Given the description of an element on the screen output the (x, y) to click on. 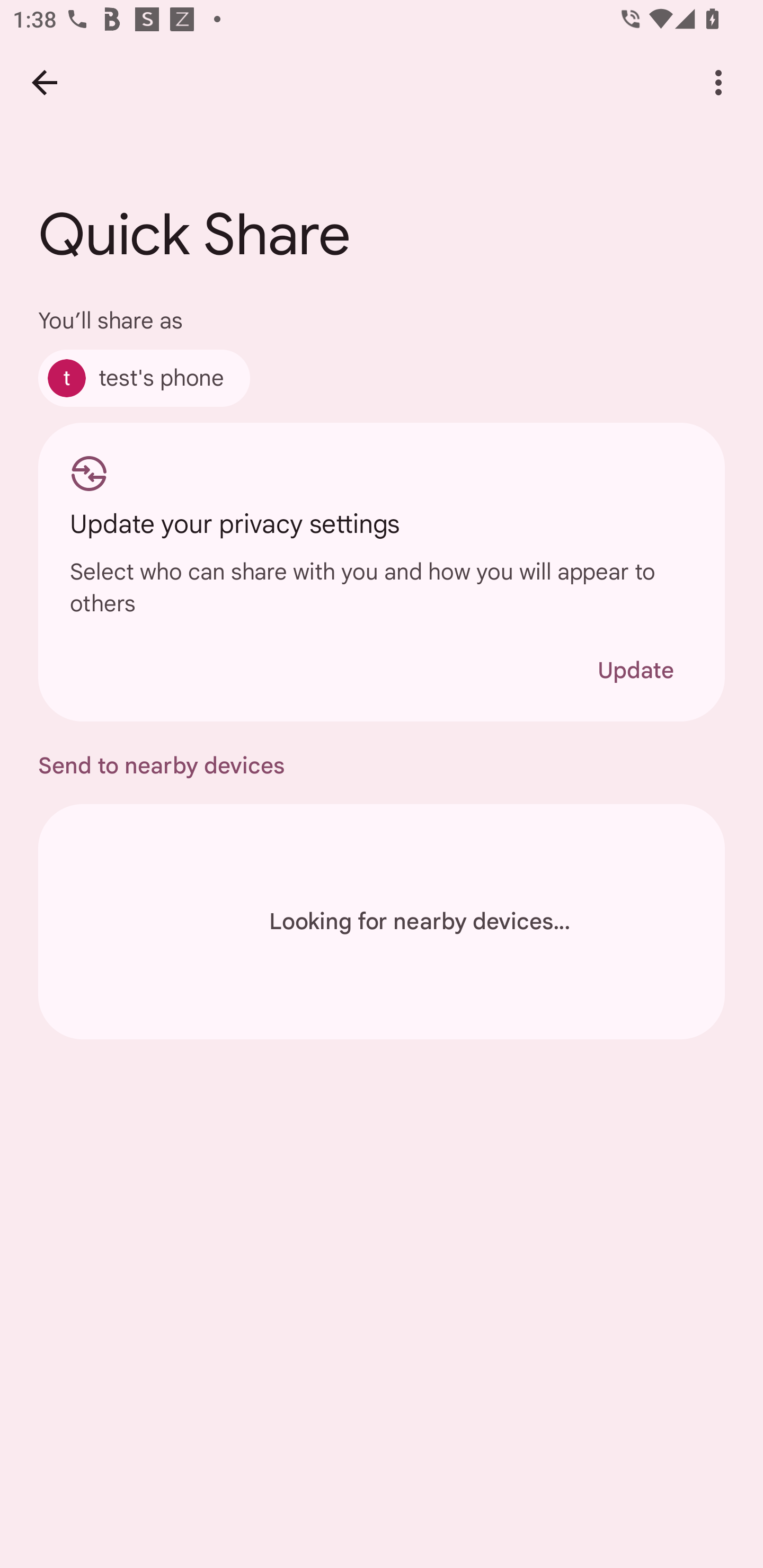
Back (44, 81)
More (718, 81)
test's phone (144, 378)
Update (635, 669)
